Given the description of an element on the screen output the (x, y) to click on. 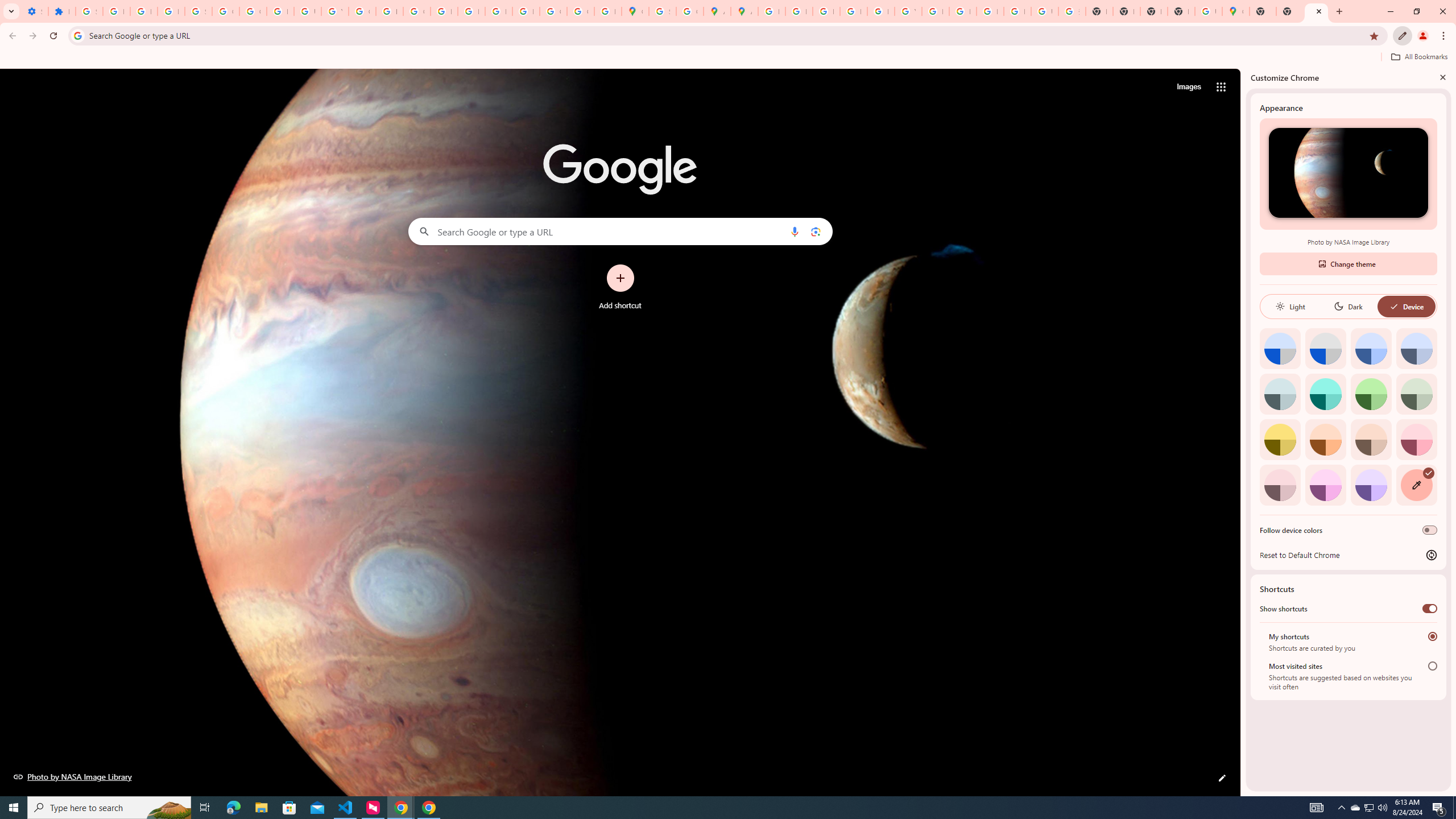
Blue (1371, 348)
Cool grey (1416, 348)
Privacy Help Center - Policies Help (826, 11)
Change theme (1348, 263)
Aqua (1325, 393)
Policy Accountability and Transparency - Transparency Center (771, 11)
YouTube (908, 11)
Green (1371, 393)
Side Panel Resize Handle (1242, 431)
Settings - On startup (34, 11)
